Given the description of an element on the screen output the (x, y) to click on. 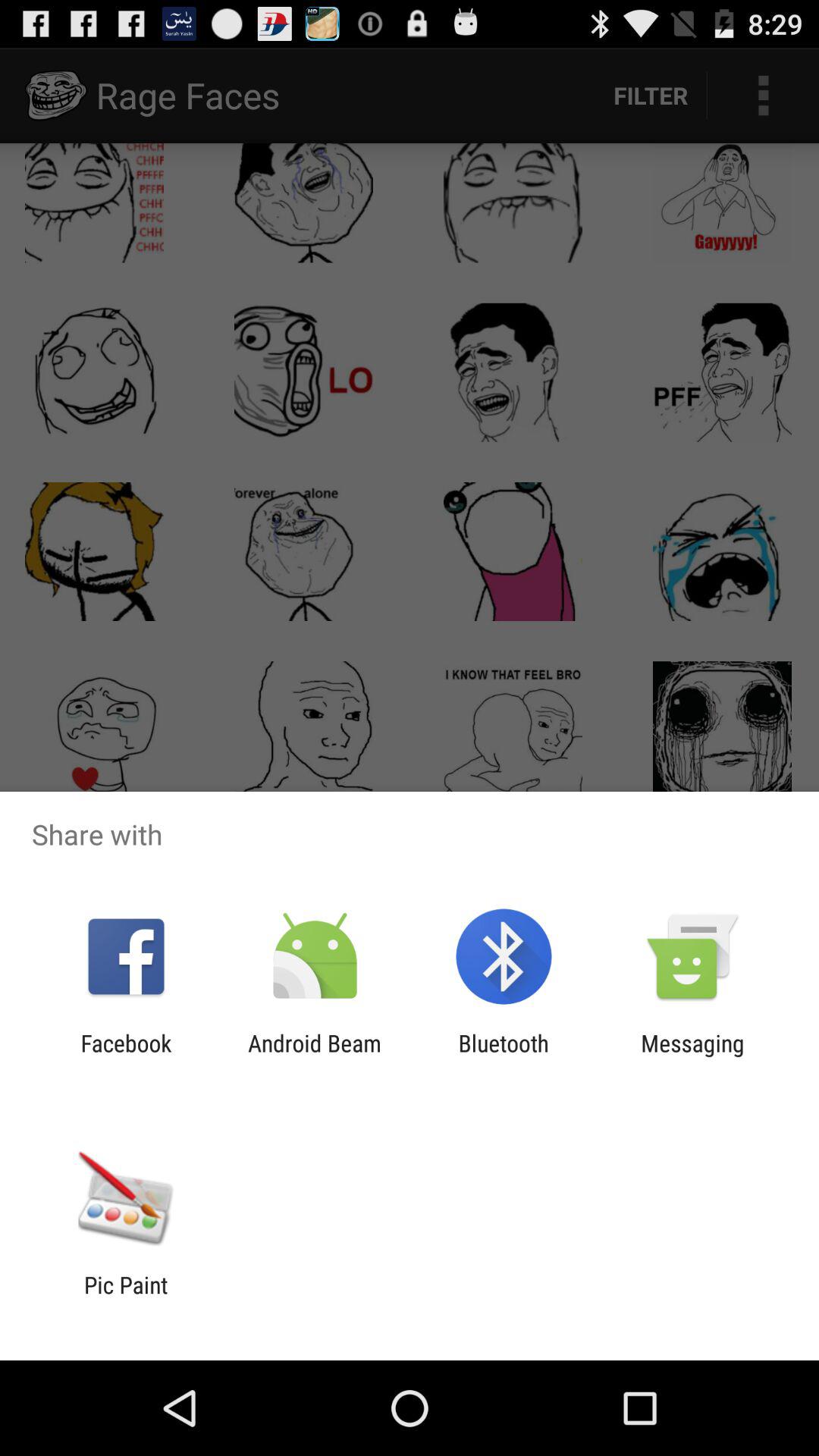
tap item to the left of the android beam (125, 1056)
